Given the description of an element on the screen output the (x, y) to click on. 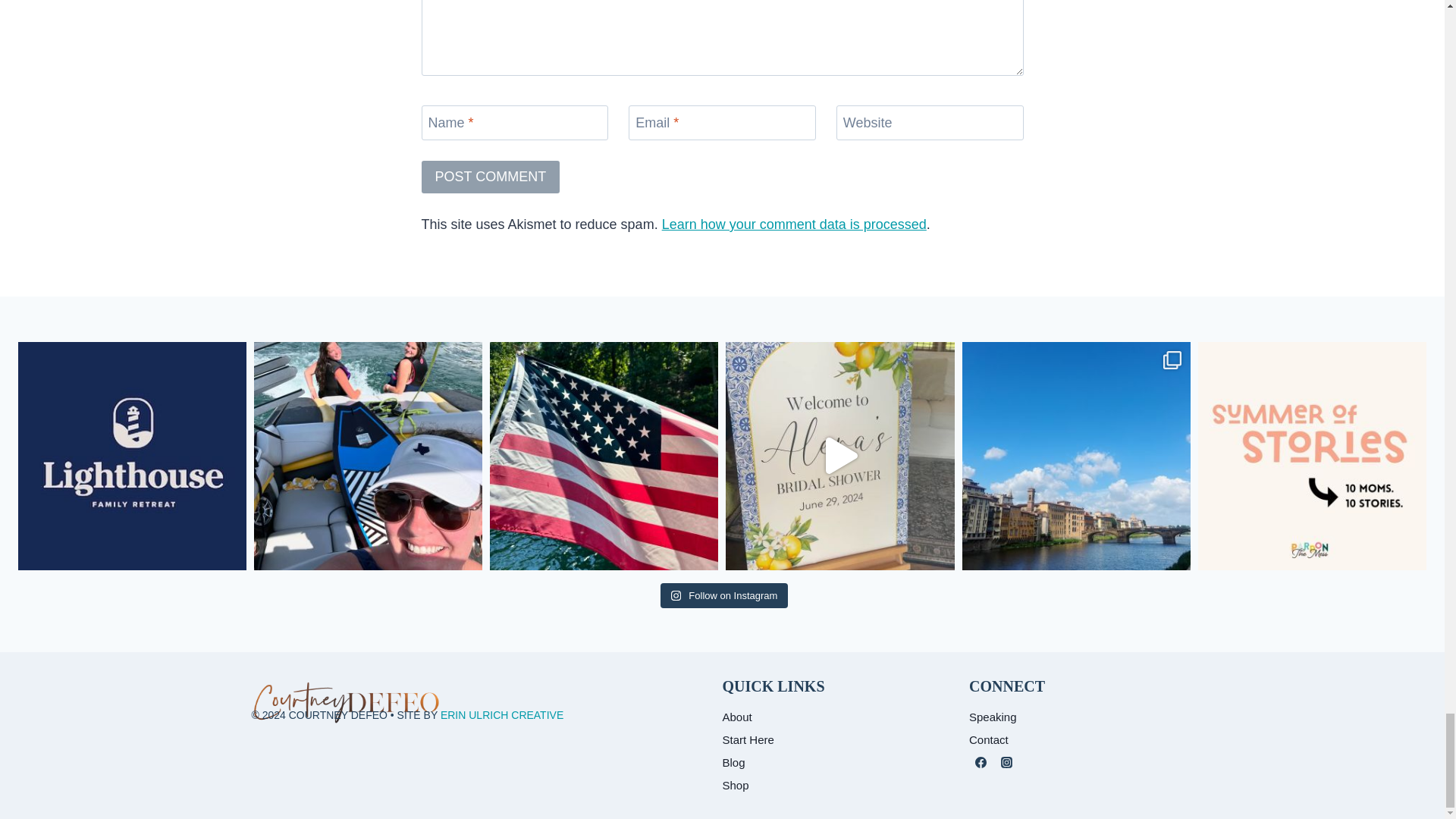
Post Comment (491, 176)
